Given the description of an element on the screen output the (x, y) to click on. 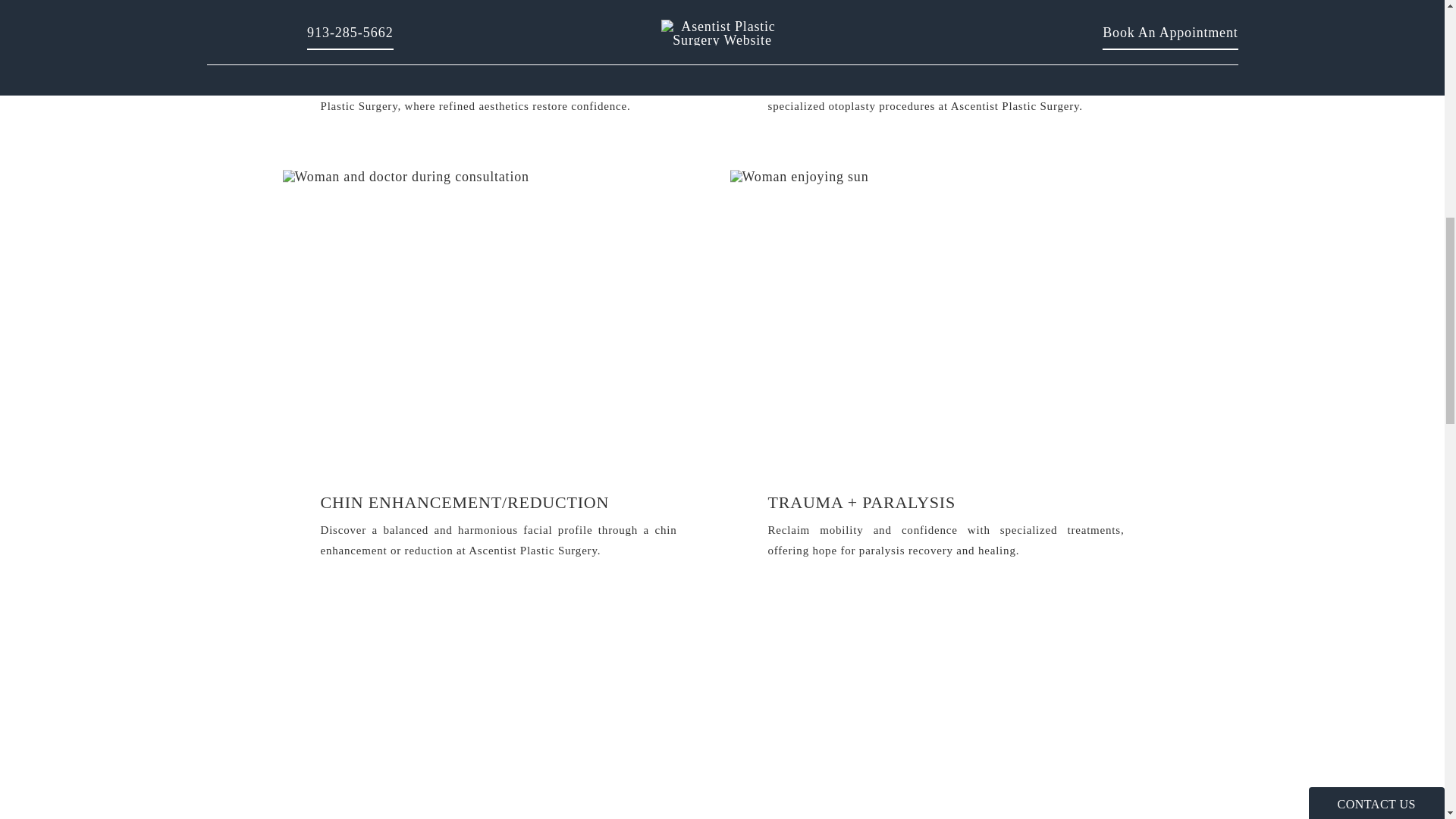
Opens Facelift page (498, 6)
Opens Facelift page (498, 57)
Opens Otoplasty page (945, 57)
Opens Mohs Reconstruction page (498, 716)
Opens Otoplasty page (945, 6)
